Given the description of an element on the screen output the (x, y) to click on. 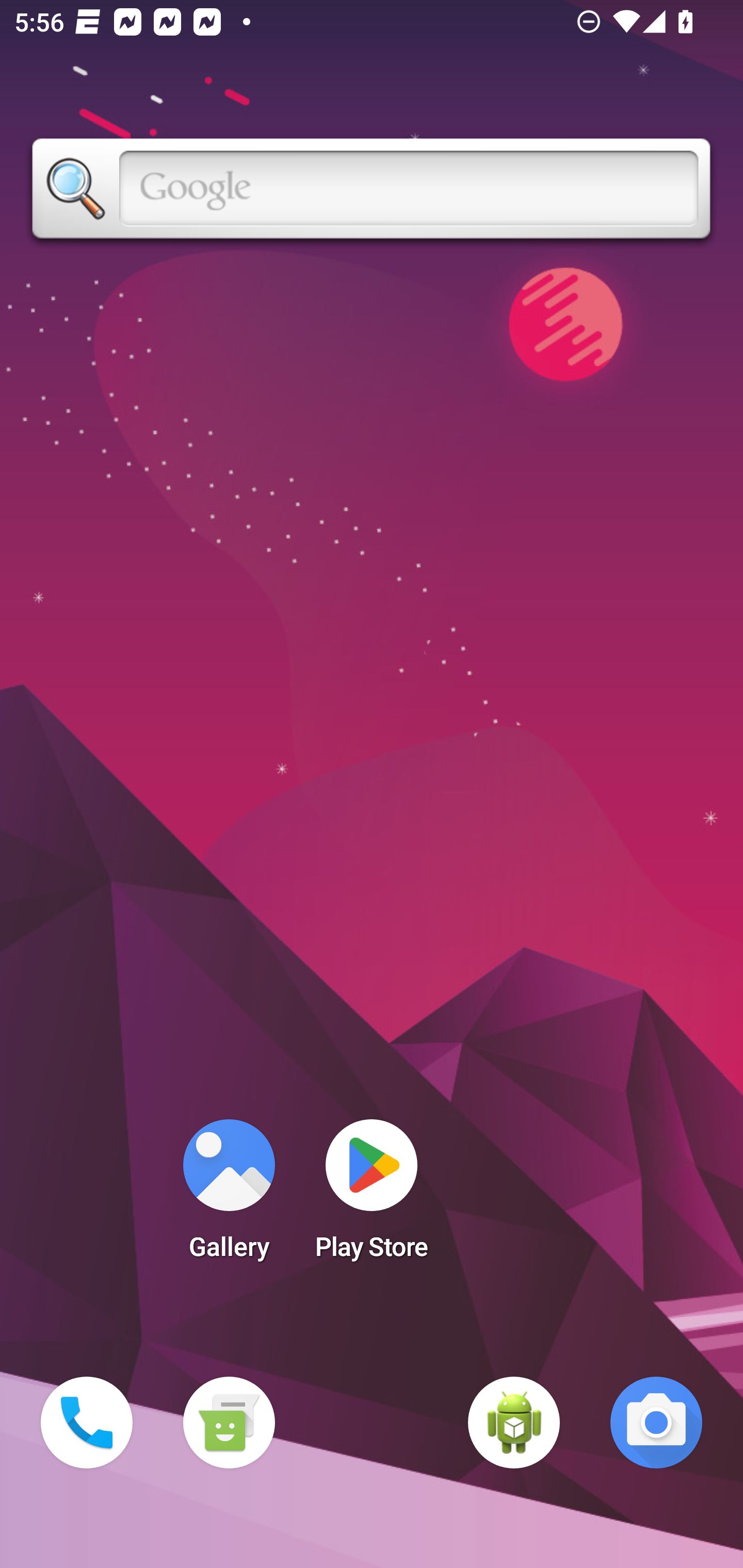
Gallery (228, 1195)
Play Store (371, 1195)
Phone (86, 1422)
Messaging (228, 1422)
WebView Browser Tester (513, 1422)
Camera (656, 1422)
